Given the description of an element on the screen output the (x, y) to click on. 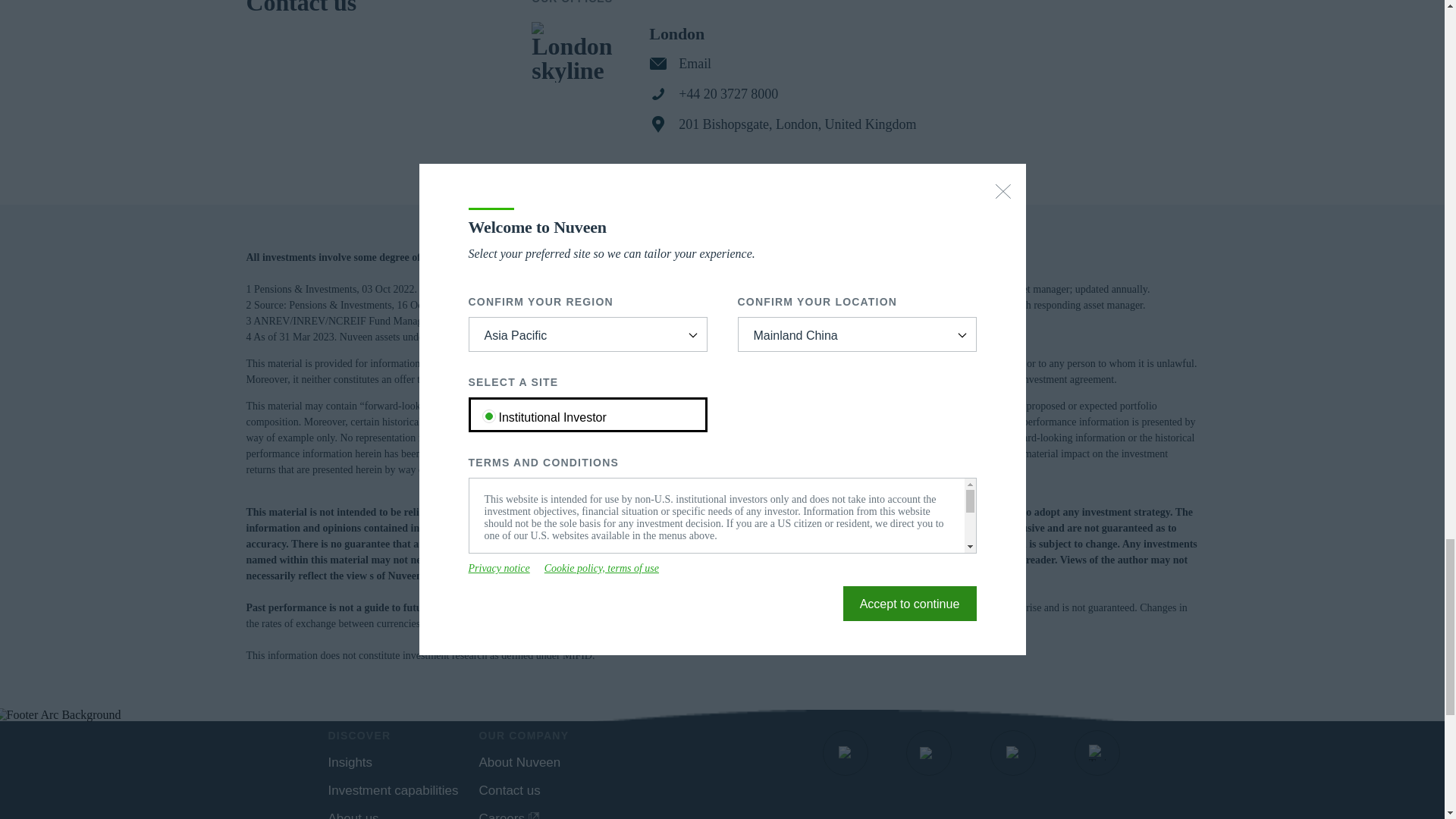
opens in a new window (845, 752)
opens in a new window (1097, 752)
opens in a new window (508, 815)
opens in a new window (1013, 752)
opens in a new window (928, 752)
